Given the description of an element on the screen output the (x, y) to click on. 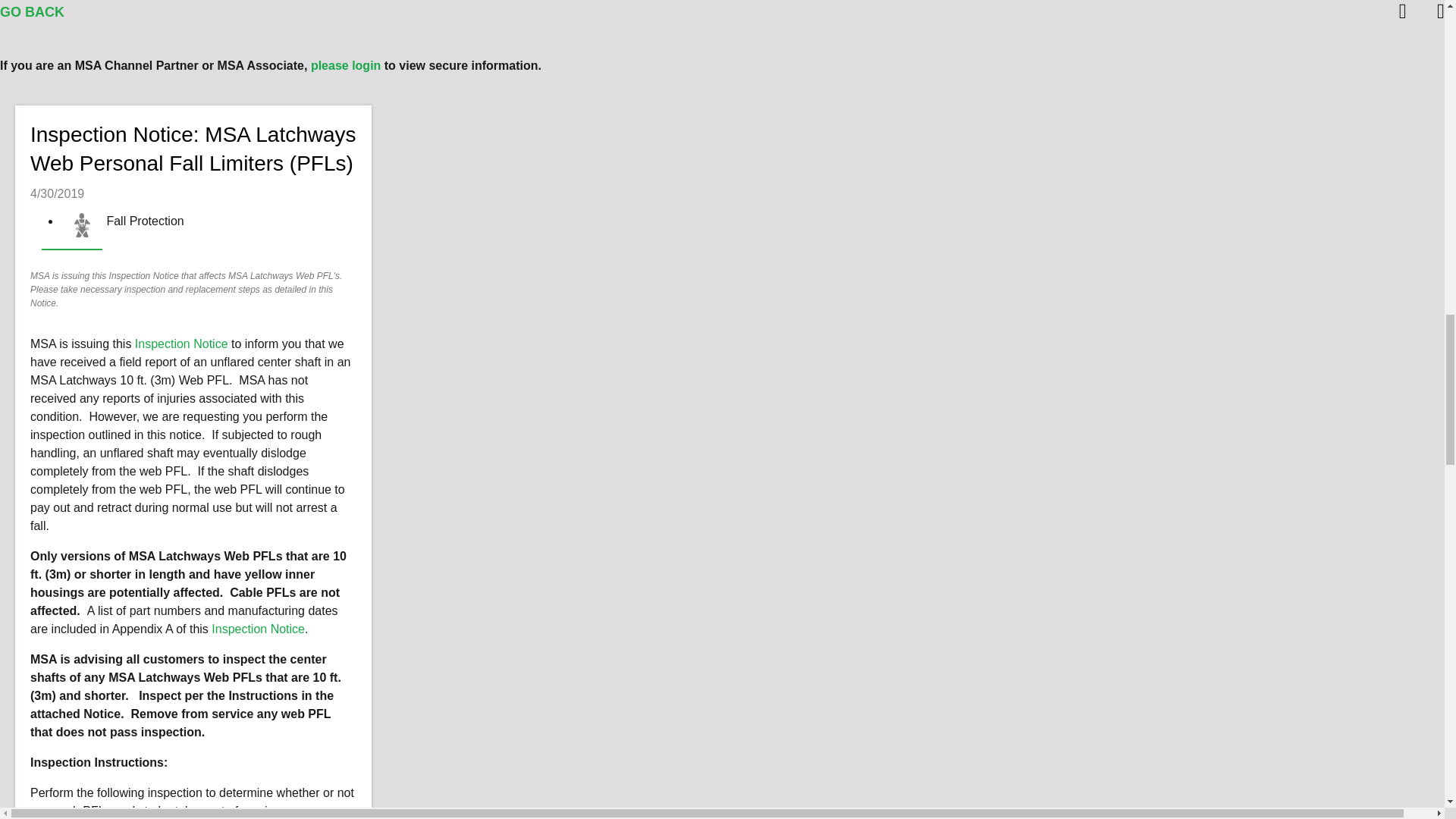
Fall Protection (82, 224)
Go Back (32, 12)
